Given the description of an element on the screen output the (x, y) to click on. 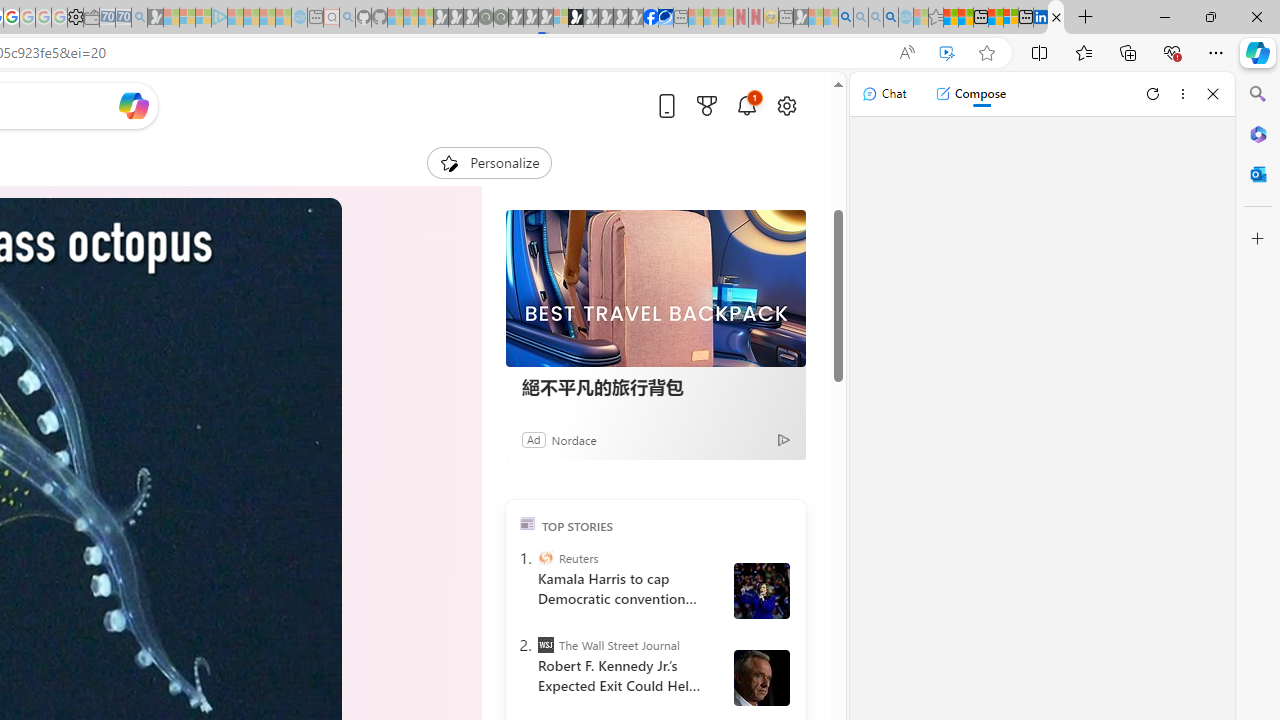
Home | Sky Blue Bikes - Sky Blue Bikes - Sleeping (299, 17)
Personalize (488, 162)
MSN - Sleeping (800, 17)
Close Customize pane (1258, 239)
Aberdeen, Hong Kong SAR weather forecast | Microsoft Weather (965, 17)
